Given the description of an element on the screen output the (x, y) to click on. 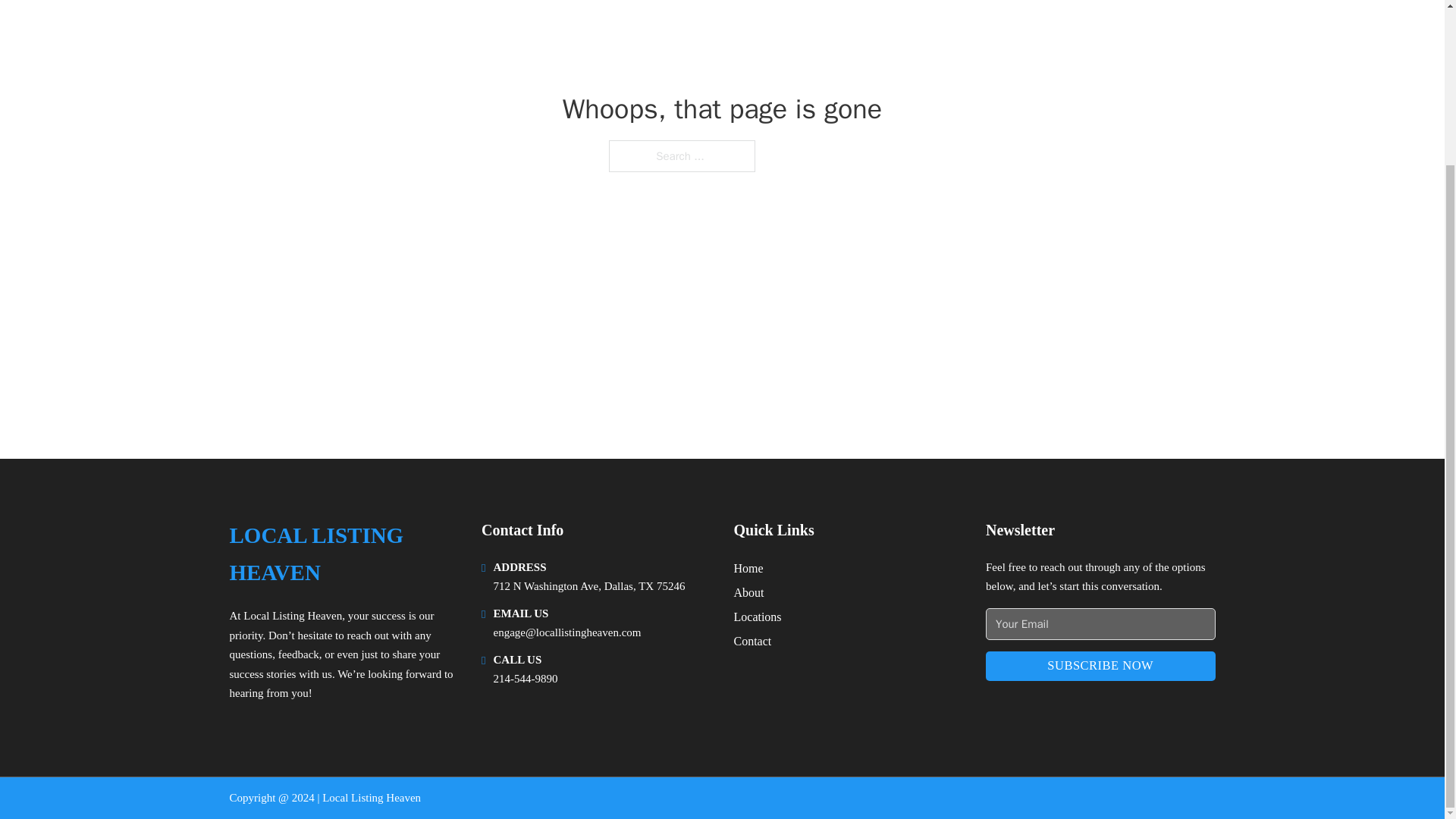
About (748, 592)
Locations (757, 616)
LOCAL LISTING HEAVEN (343, 554)
Contact (752, 640)
Home (747, 567)
SUBSCRIBE NOW (1100, 665)
214-544-9890 (525, 678)
